Given the description of an element on the screen output the (x, y) to click on. 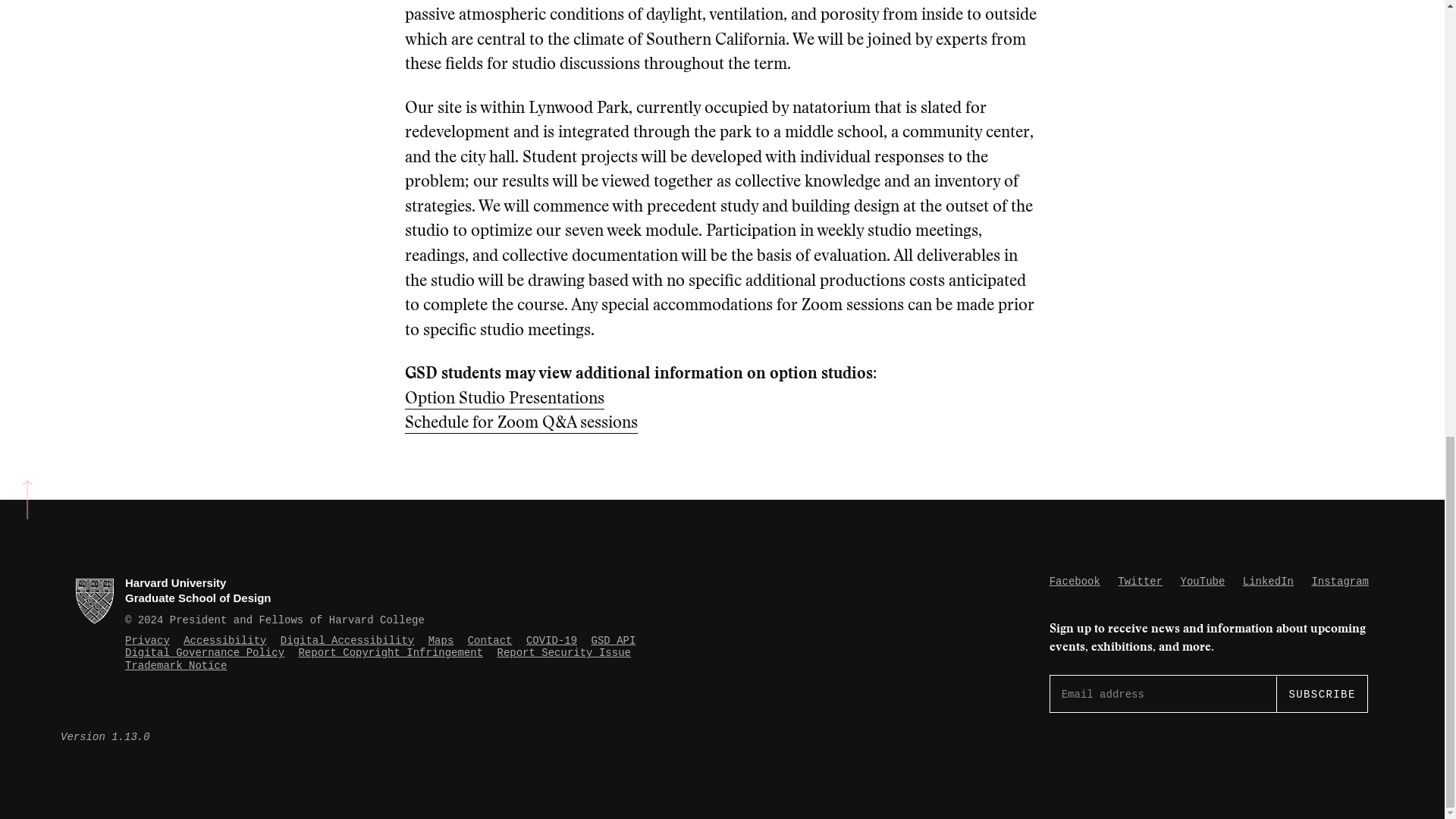
Subscribe (1321, 693)
